Given the description of an element on the screen output the (x, y) to click on. 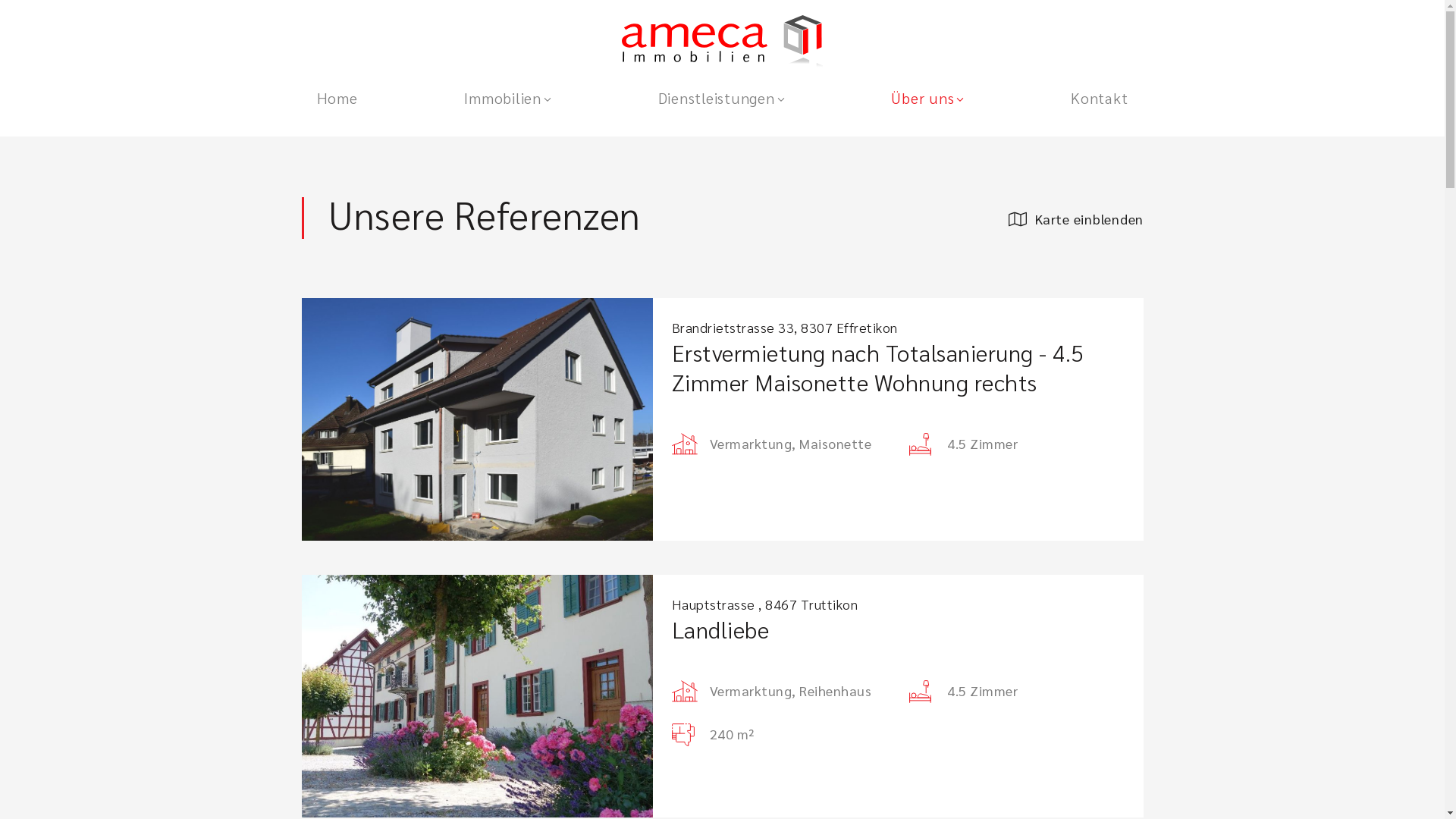
Kontakt Element type: text (1098, 97)
Karte einblenden Element type: text (1075, 218)
Immobilien Element type: text (507, 97)
Dienstleistungen Element type: text (721, 97)
Home Element type: text (336, 97)
